Given the description of an element on the screen output the (x, y) to click on. 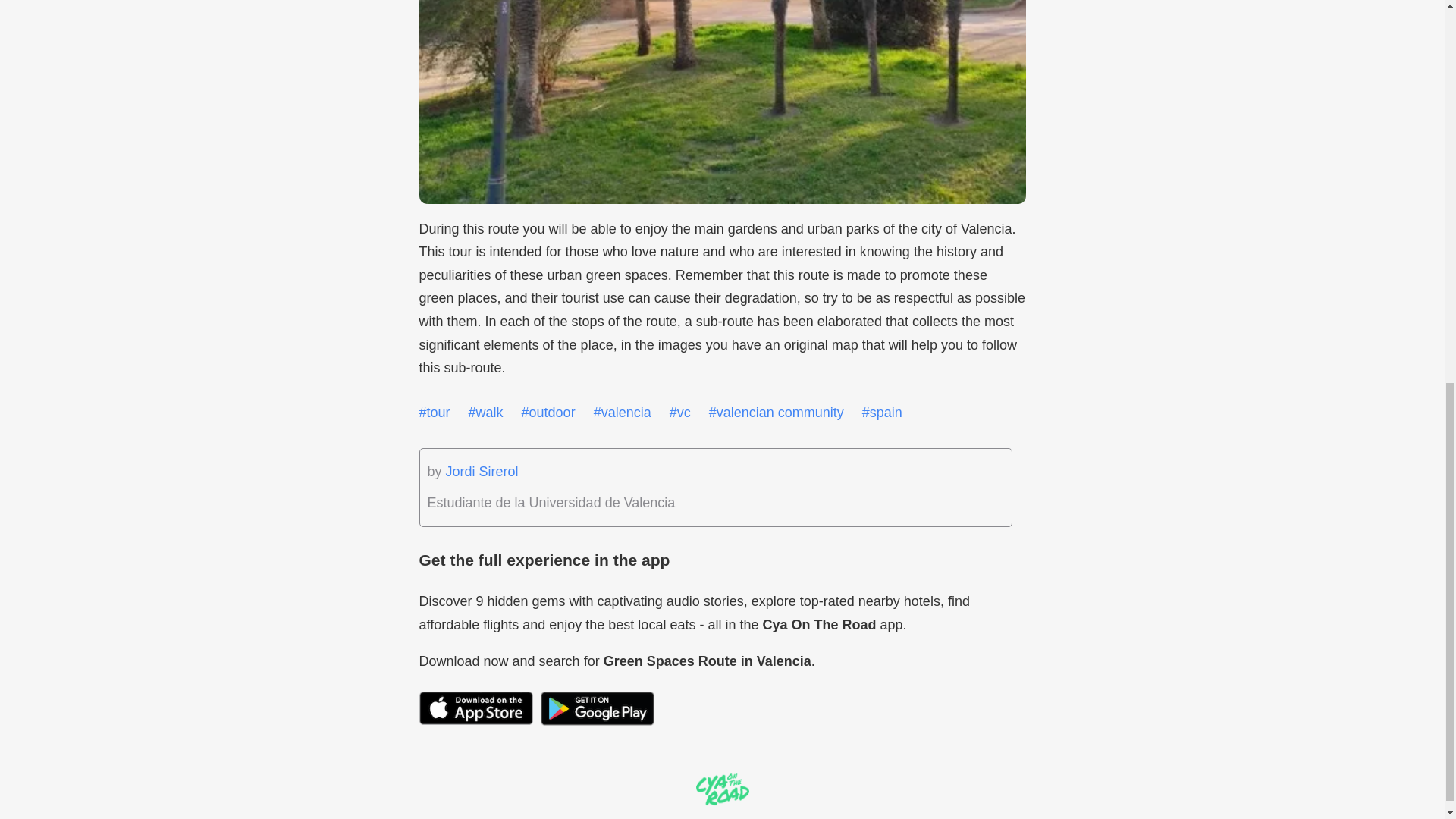
Jordi Sirerol (481, 471)
